Given the description of an element on the screen output the (x, y) to click on. 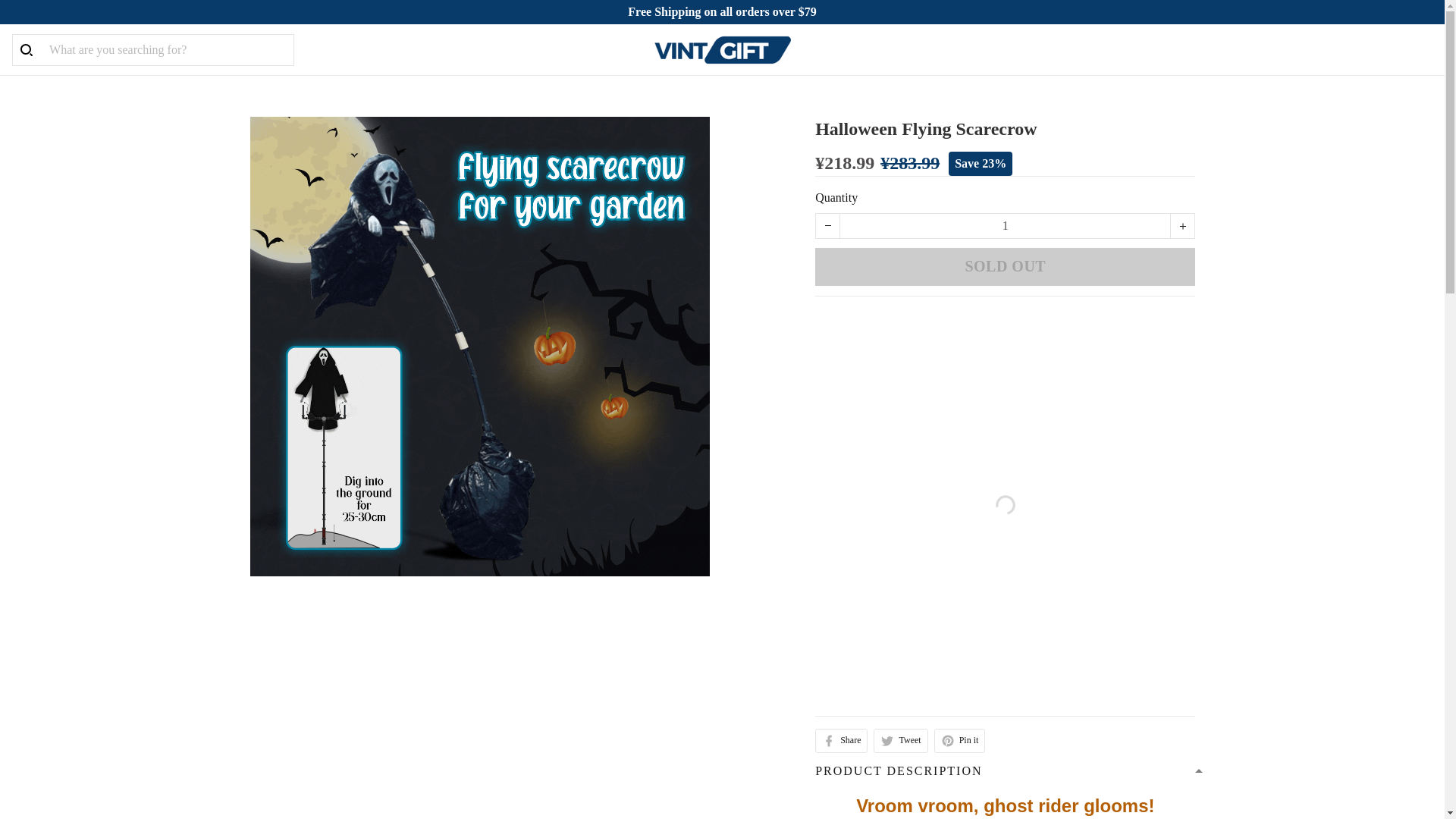
Share (841, 740)
SOLD OUT (1005, 266)
Share on Facebook (841, 740)
Tweet (900, 740)
Pin it (959, 740)
Pin on Pinterest (959, 740)
1 (1005, 225)
Share on Twitter (900, 740)
